Given the description of an element on the screen output the (x, y) to click on. 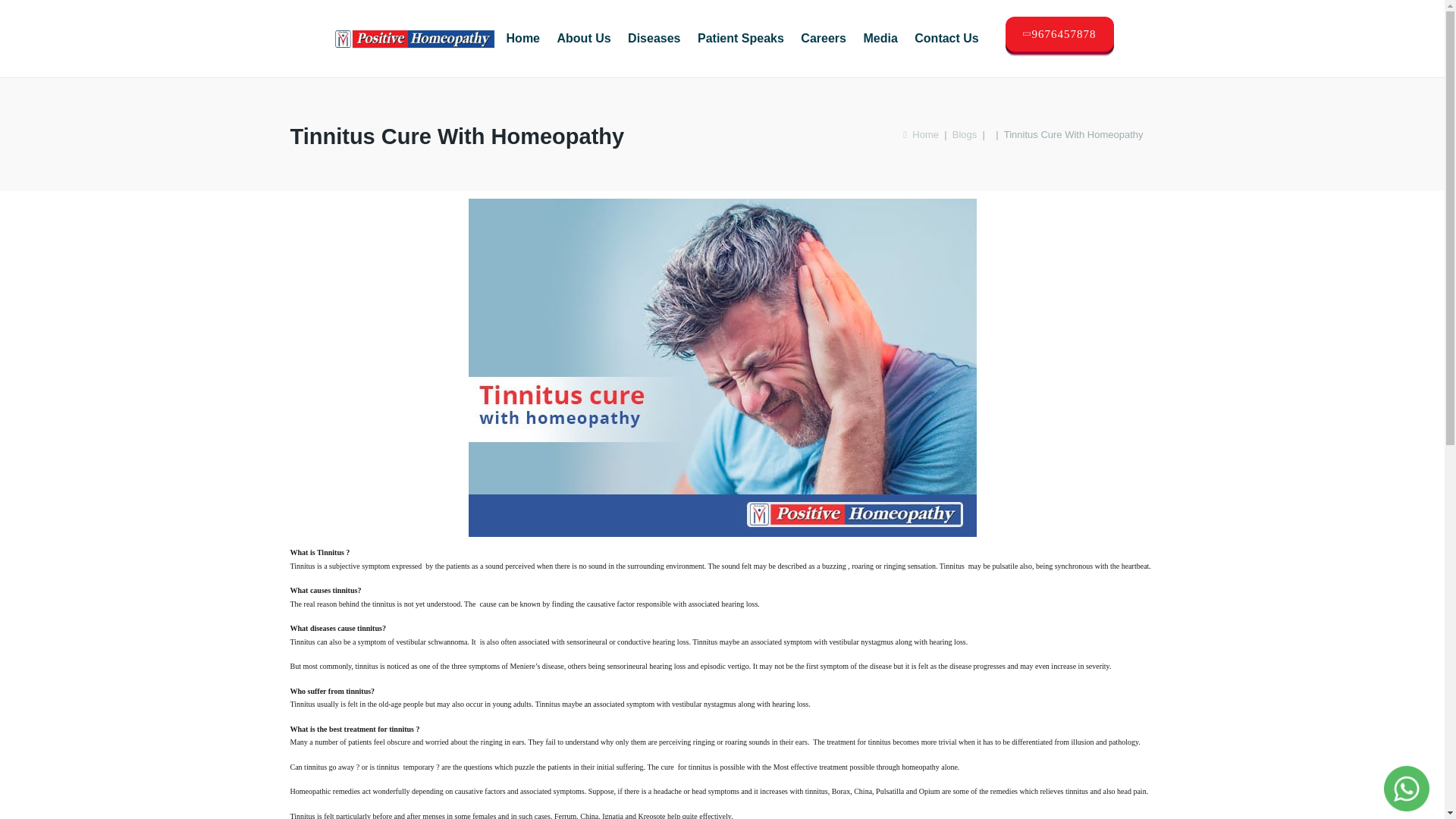
Go to PositiveHomeopathy. (920, 134)
Blogs (964, 134)
  Home (920, 134)
Contact Us (946, 38)
Go to Blogs. (964, 134)
9676457878 (1059, 33)
9676457878 (1059, 36)
About Us (582, 38)
PositiveHomeopathy (414, 38)
Patient Speaks (741, 38)
